Given the description of an element on the screen output the (x, y) to click on. 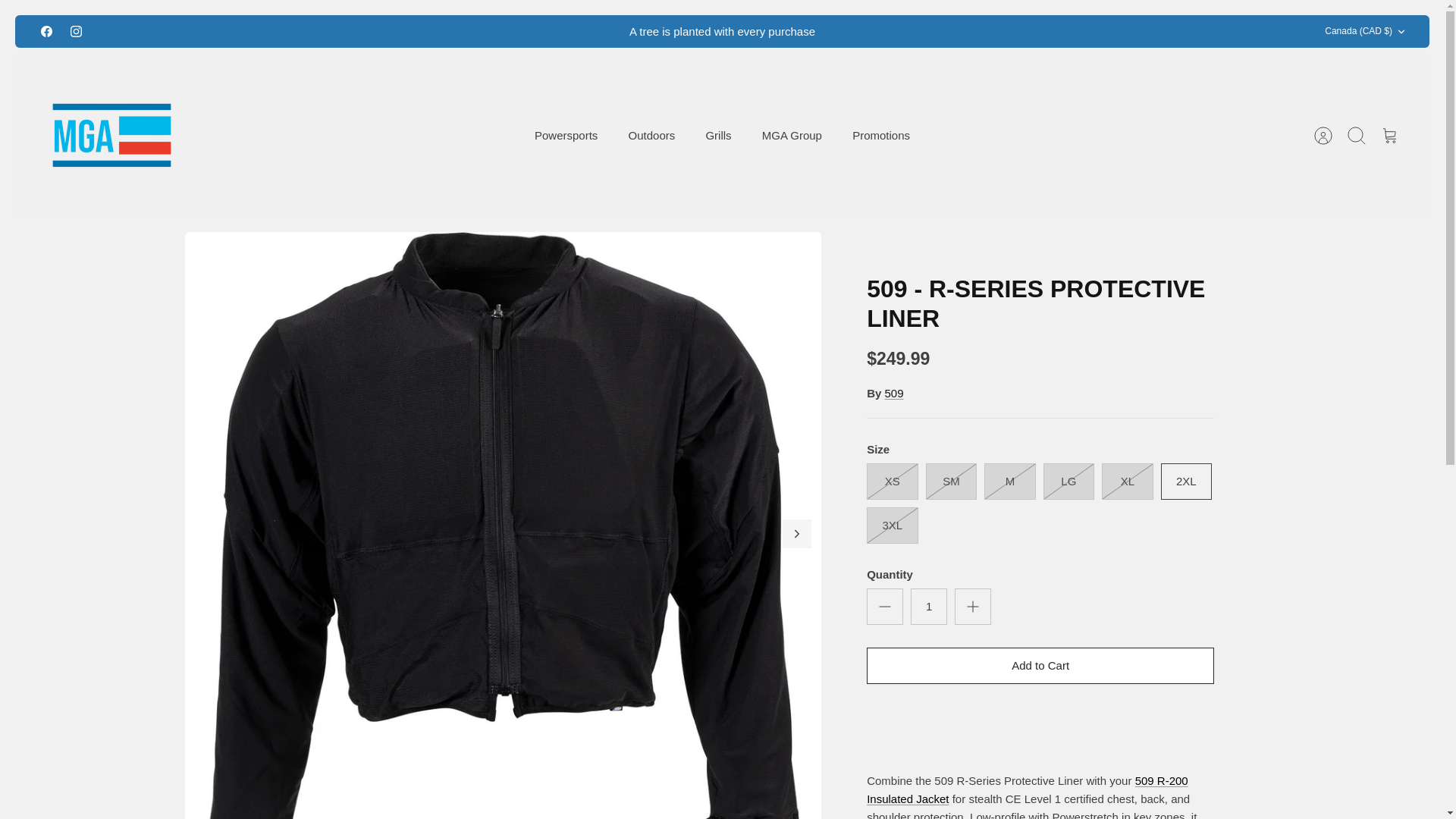
Instagram (75, 31)
Instagram (75, 30)
MGA Distribution Ltd (111, 135)
Powersports (566, 135)
Right (796, 533)
1 (929, 606)
